Given the description of an element on the screen output the (x, y) to click on. 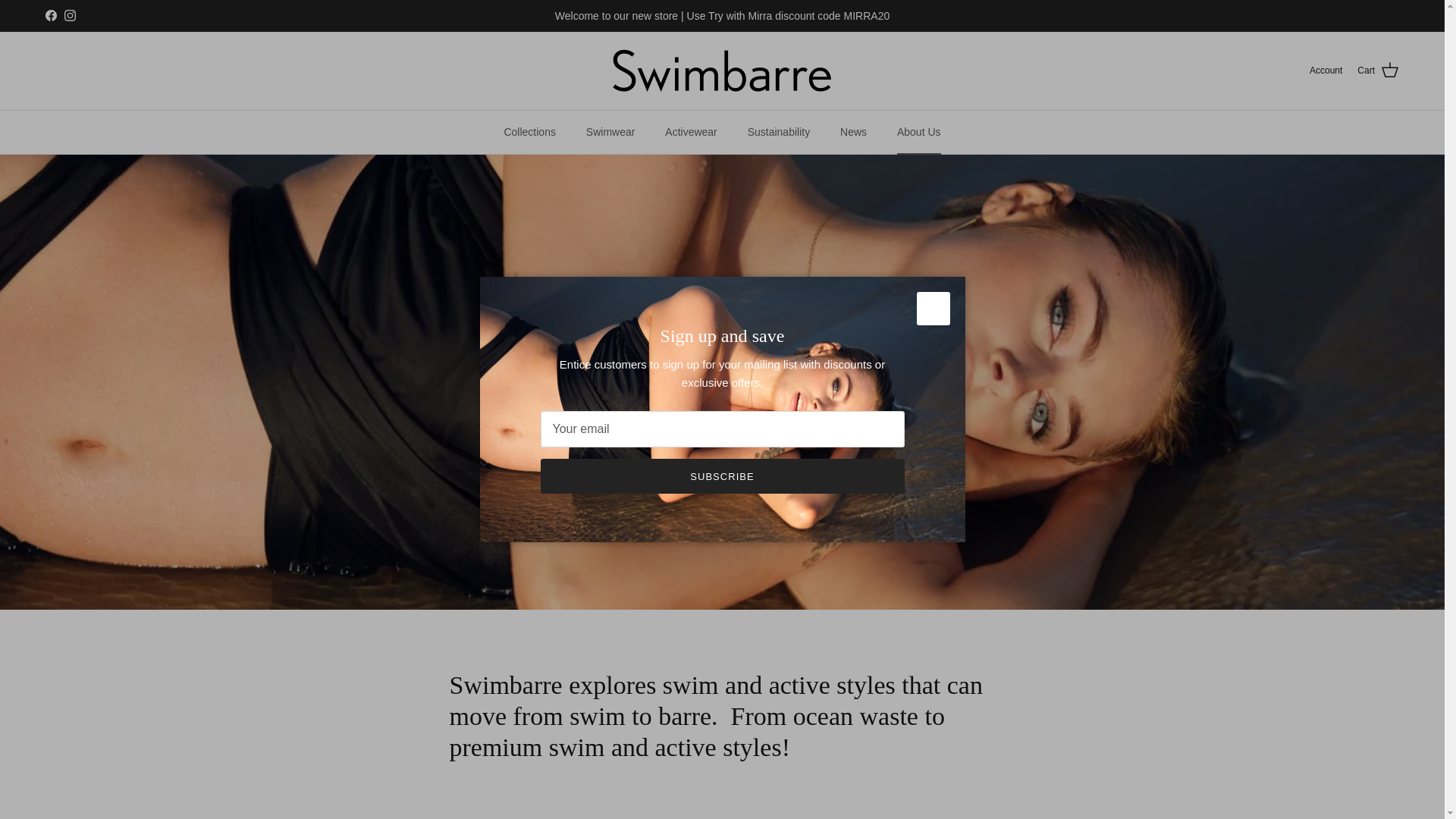
Cart (1377, 70)
Swimbarre on Facebook (50, 15)
Swimwear (610, 131)
Activewear (690, 131)
Swimbarre (722, 70)
Instagram (69, 15)
Facebook (50, 15)
About Us (919, 131)
Collections (529, 131)
News (853, 131)
Account (1325, 70)
Swimbarre on Instagram (69, 15)
Sustainability (778, 131)
